Given the description of an element on the screen output the (x, y) to click on. 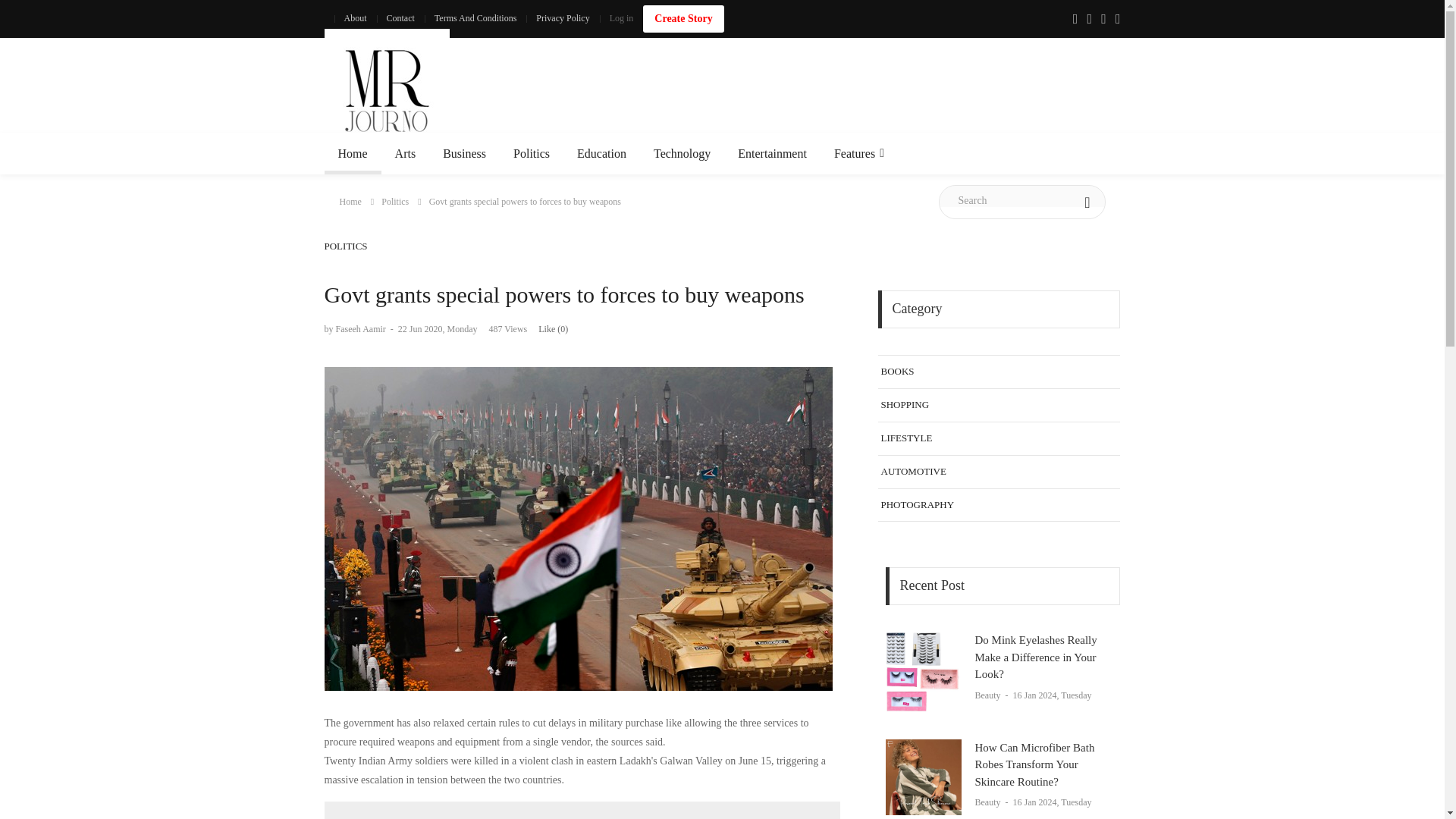
Log in (621, 18)
Privacy Policy (561, 18)
Terms And Conditions (476, 18)
Do Mink Eyelashes Really Make a Difference in Your Look? (922, 673)
Create Story (683, 17)
Advertisement (845, 90)
Contact (399, 18)
Mr. Journo (386, 90)
About (354, 18)
